Given the description of an element on the screen output the (x, y) to click on. 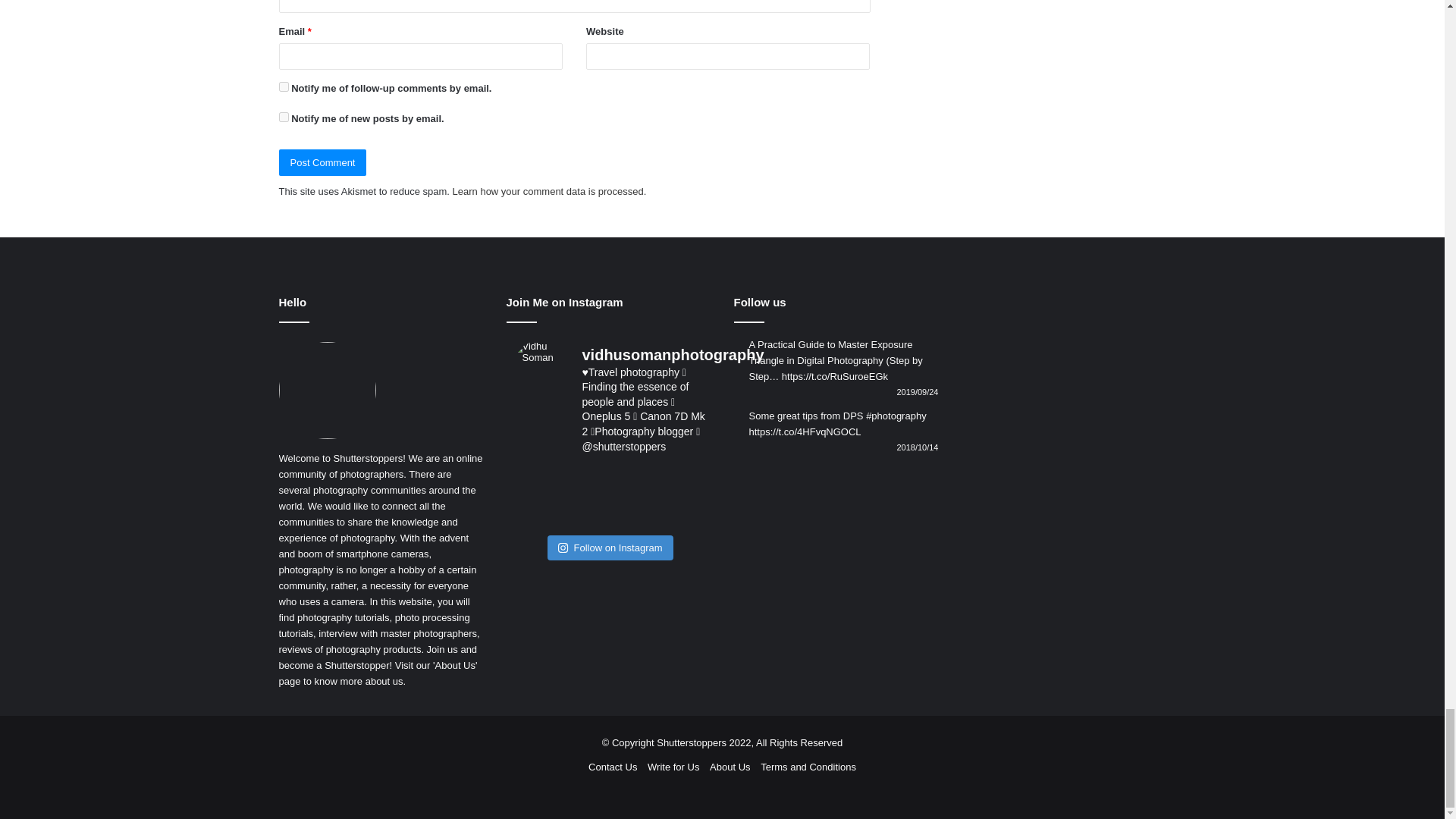
subscribe (283, 117)
subscribe (283, 86)
Post Comment (322, 162)
